Given the description of an element on the screen output the (x, y) to click on. 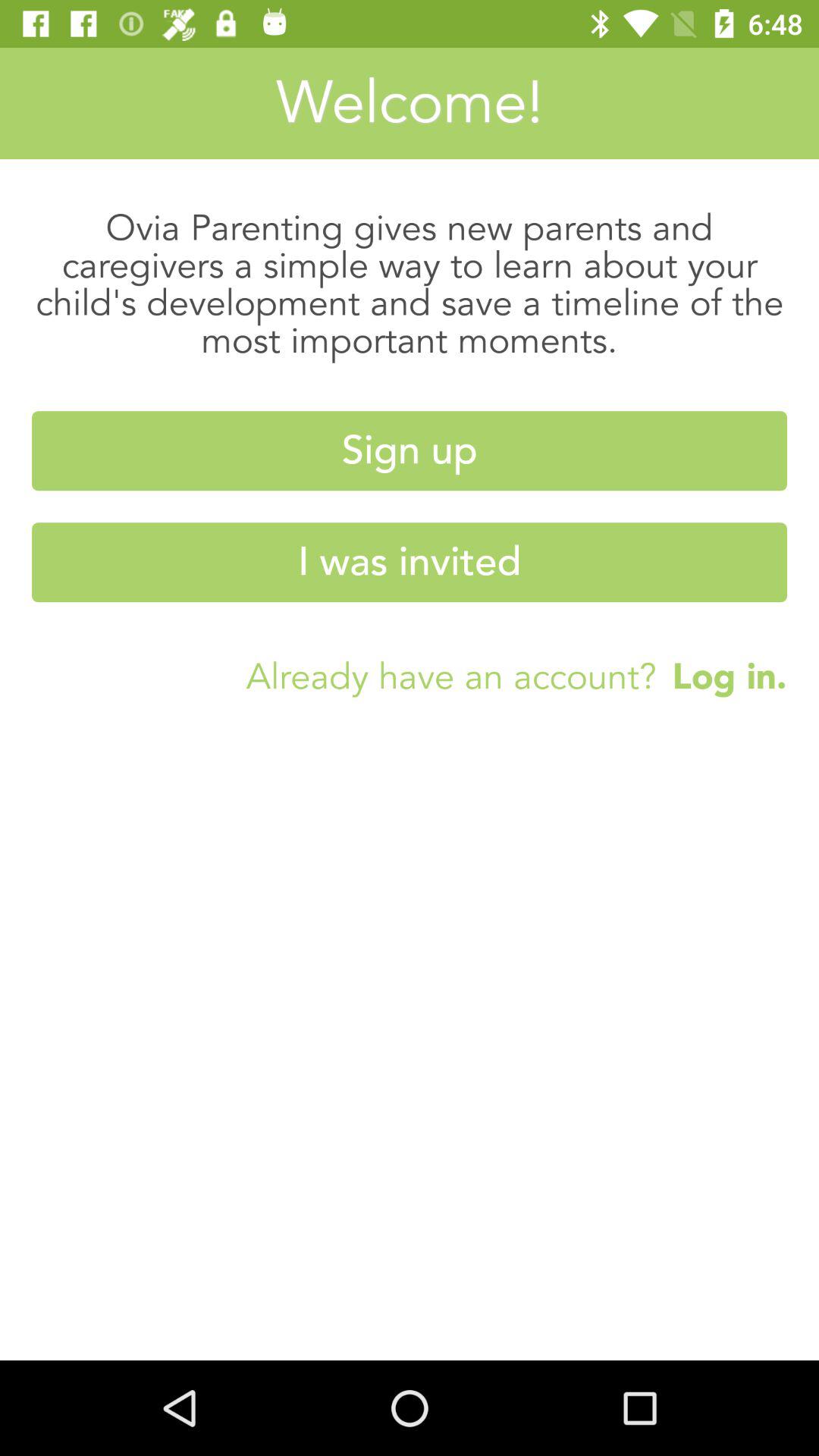
turn on log in. (721, 675)
